Given the description of an element on the screen output the (x, y) to click on. 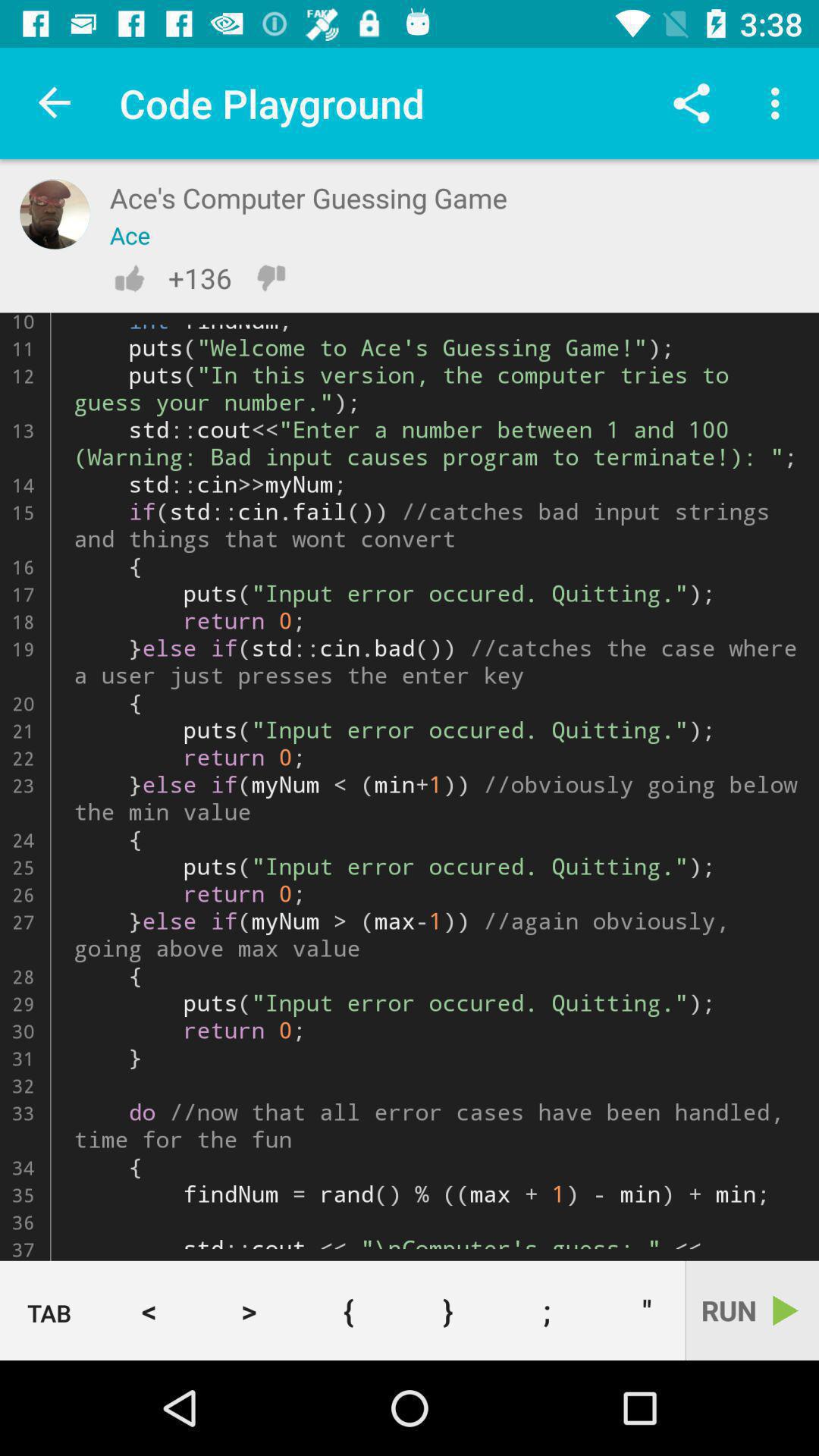
thumbs up (129, 277)
